Given the description of an element on the screen output the (x, y) to click on. 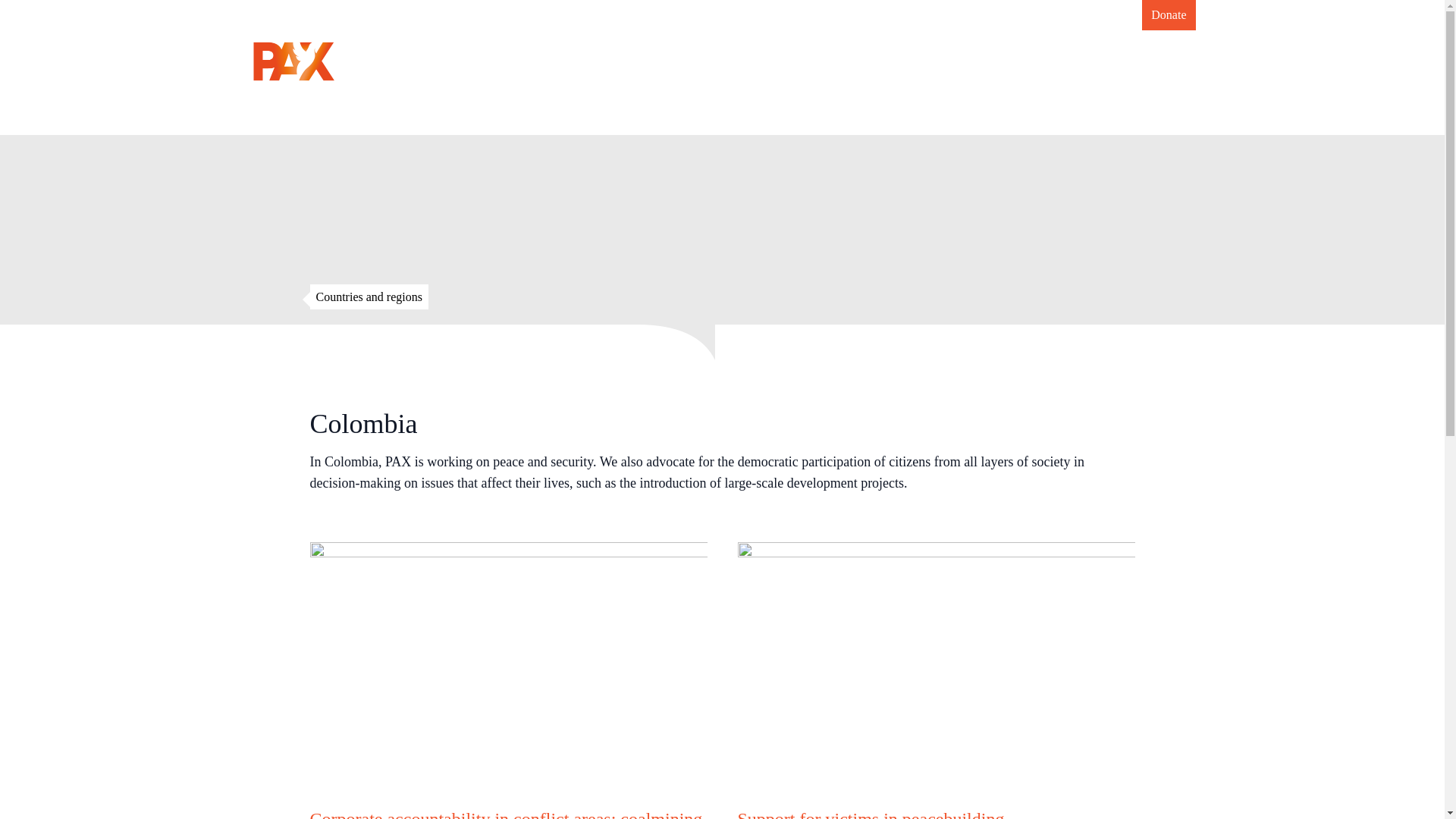
Donate (1168, 15)
Support PAX (1024, 60)
News (751, 60)
Countries and regions (368, 295)
Who we are (927, 60)
What we do (831, 60)
Contact (1112, 60)
